Given the description of an element on the screen output the (x, y) to click on. 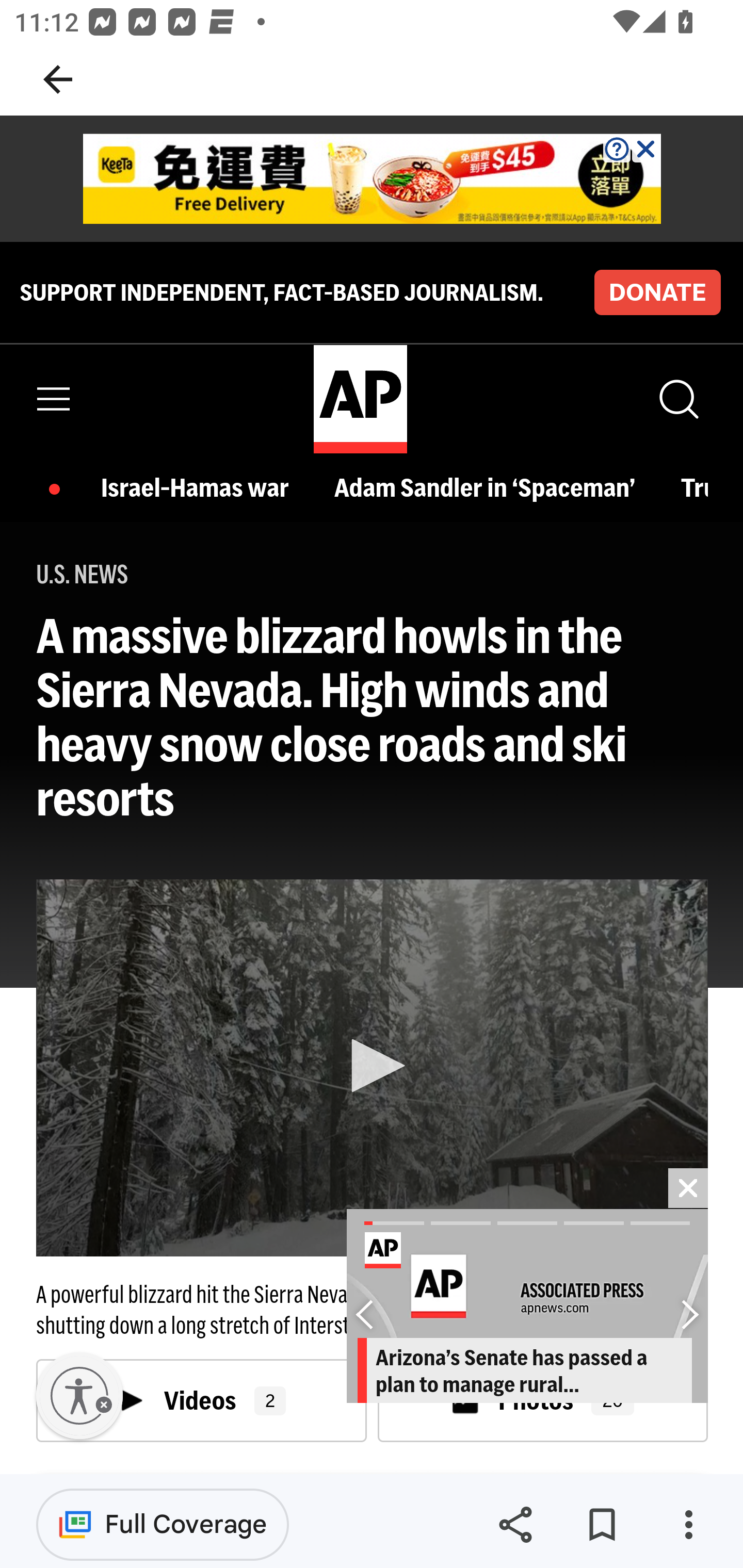
Navigate up (57, 79)
o86KnEM_1693809266736_0 (372, 179)
DONATE (657, 291)
home page AP Logo (359, 398)
Menu (54, 398)
Show Search (677, 398)
Israel-Hamas war (200, 487)
Adam Sandler in ‘Spaceman’ (489, 487)
U.S. NEWS (83, 574)
Unable to play media. (372, 1067)
Play (372, 1066)
Enable accessibility (79, 1395)
Share (514, 1524)
Save for later (601, 1524)
More options (688, 1524)
Full Coverage (162, 1524)
